Given the description of an element on the screen output the (x, y) to click on. 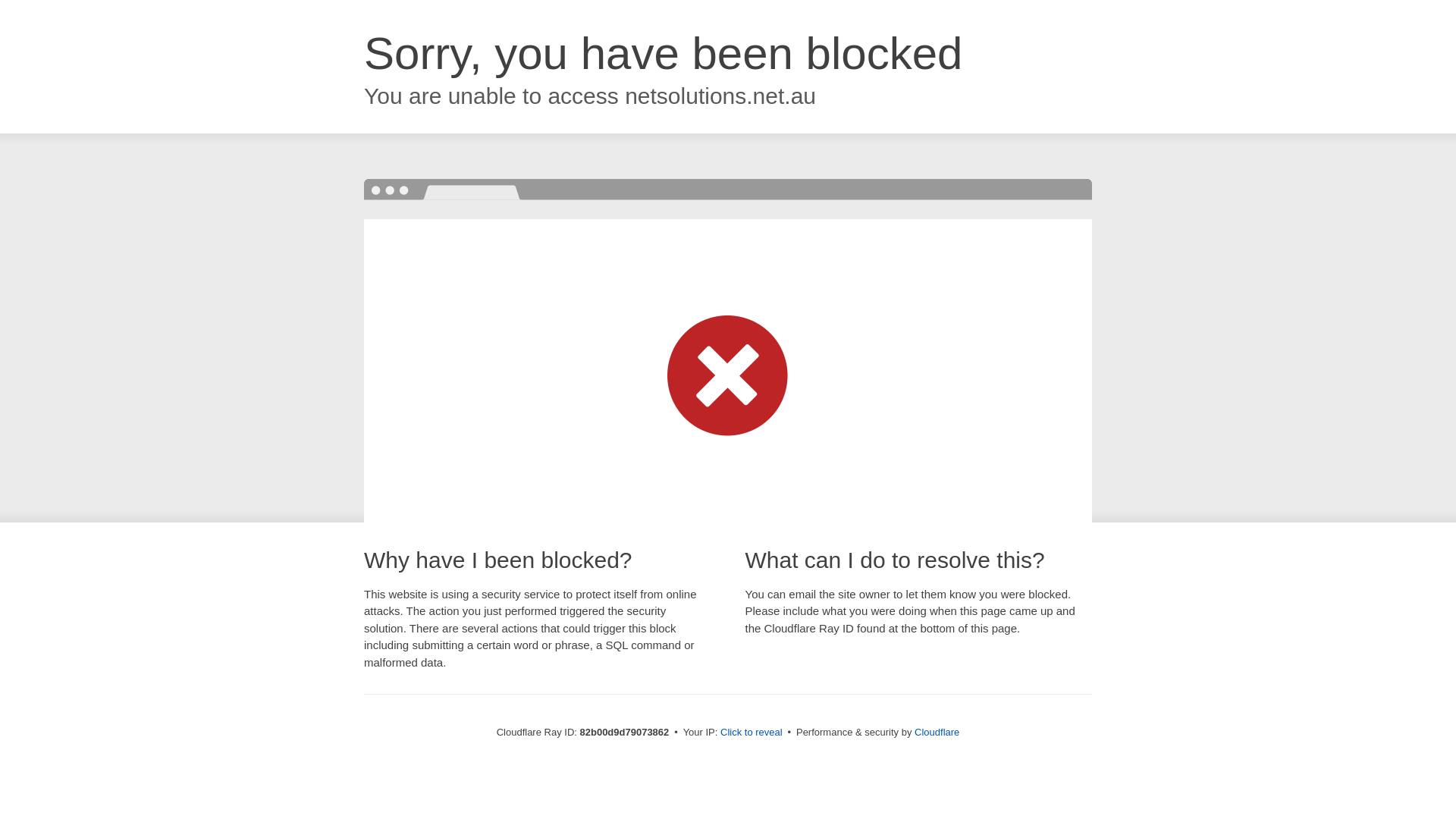
Click to reveal Element type: text (751, 732)
Cloudflare Element type: text (936, 731)
